Given the description of an element on the screen output the (x, y) to click on. 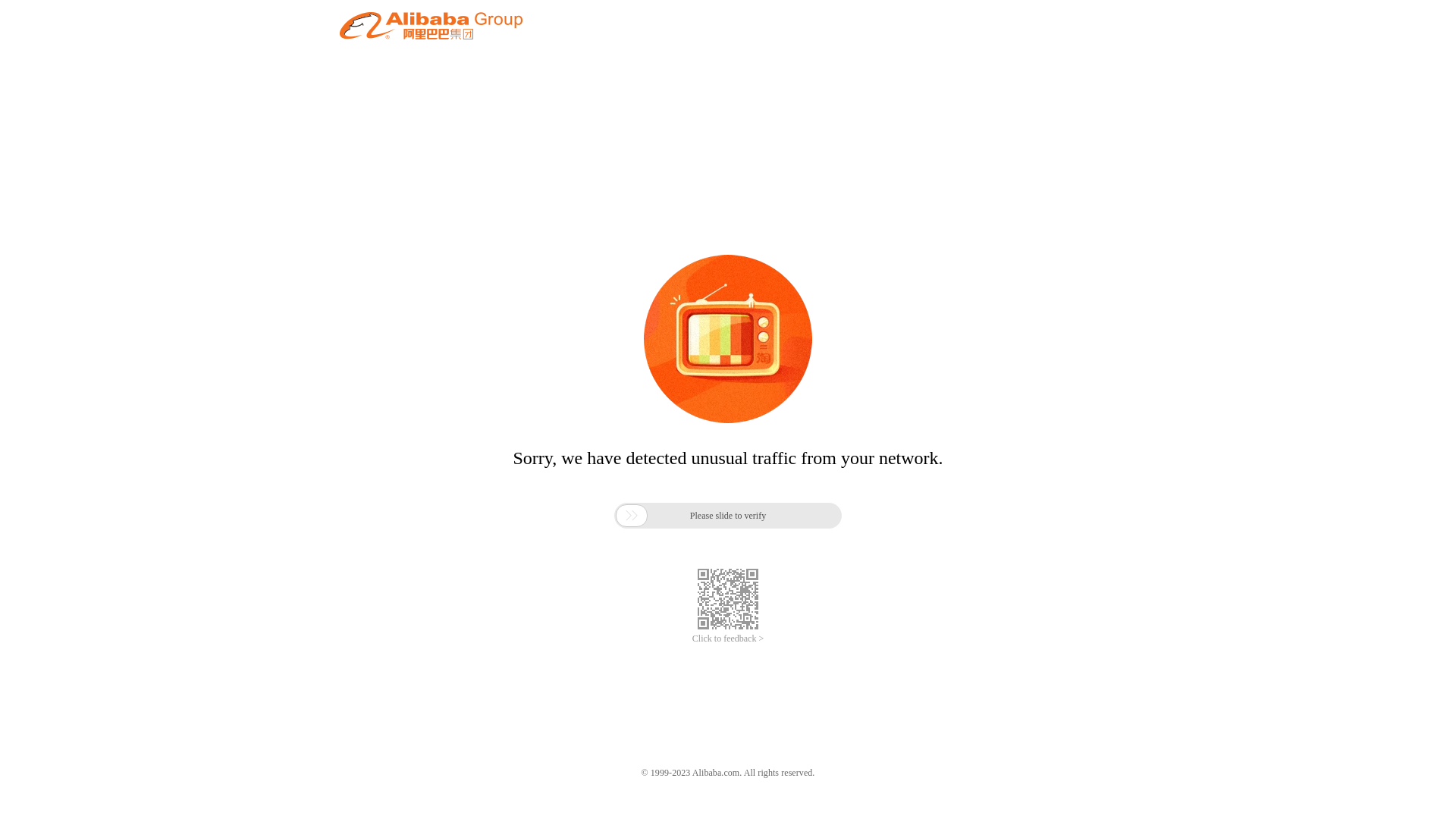
Click to feedback > Element type: text (727, 638)
